Given the description of an element on the screen output the (x, y) to click on. 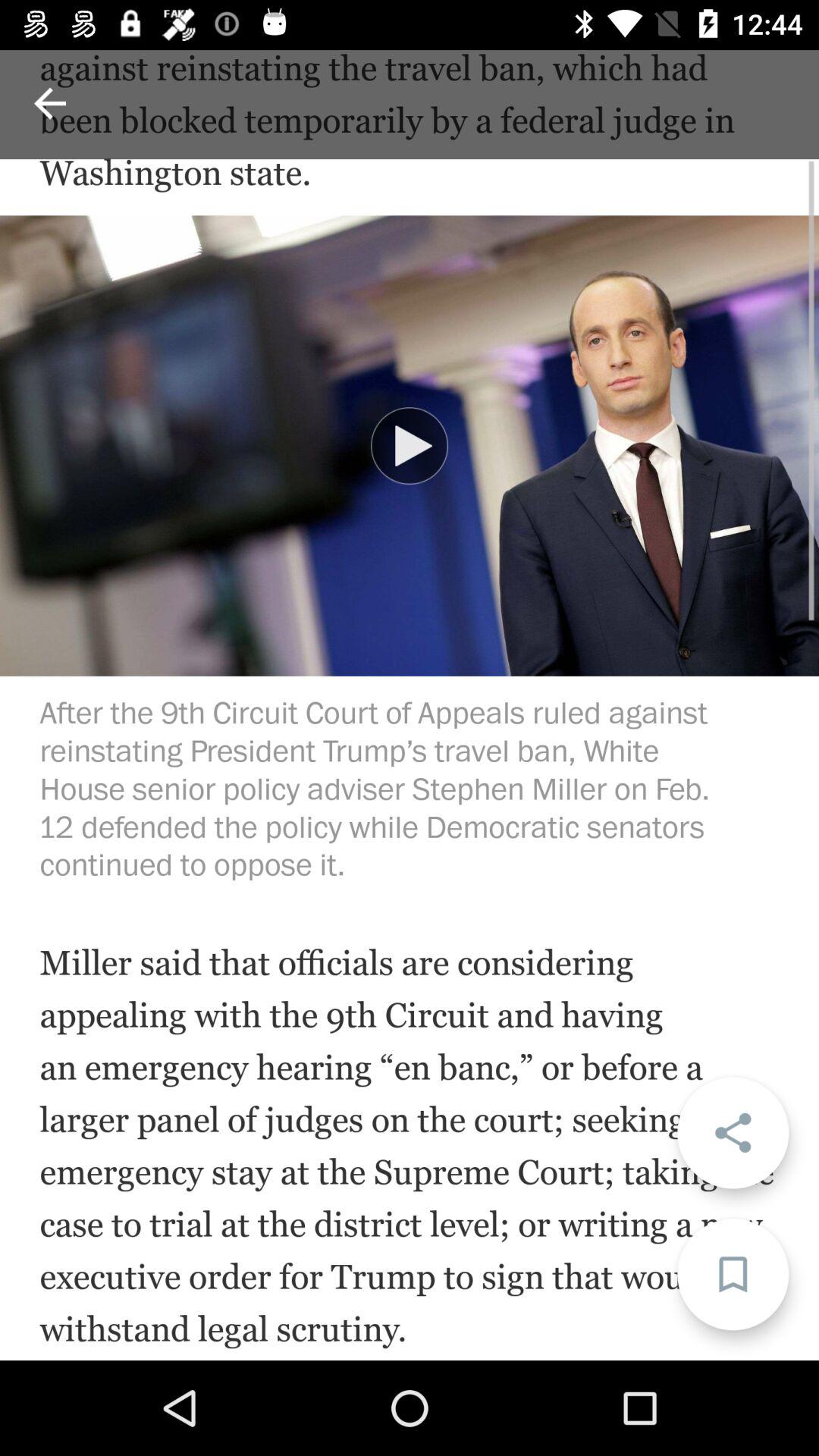
go back (49, 103)
